Given the description of an element on the screen output the (x, y) to click on. 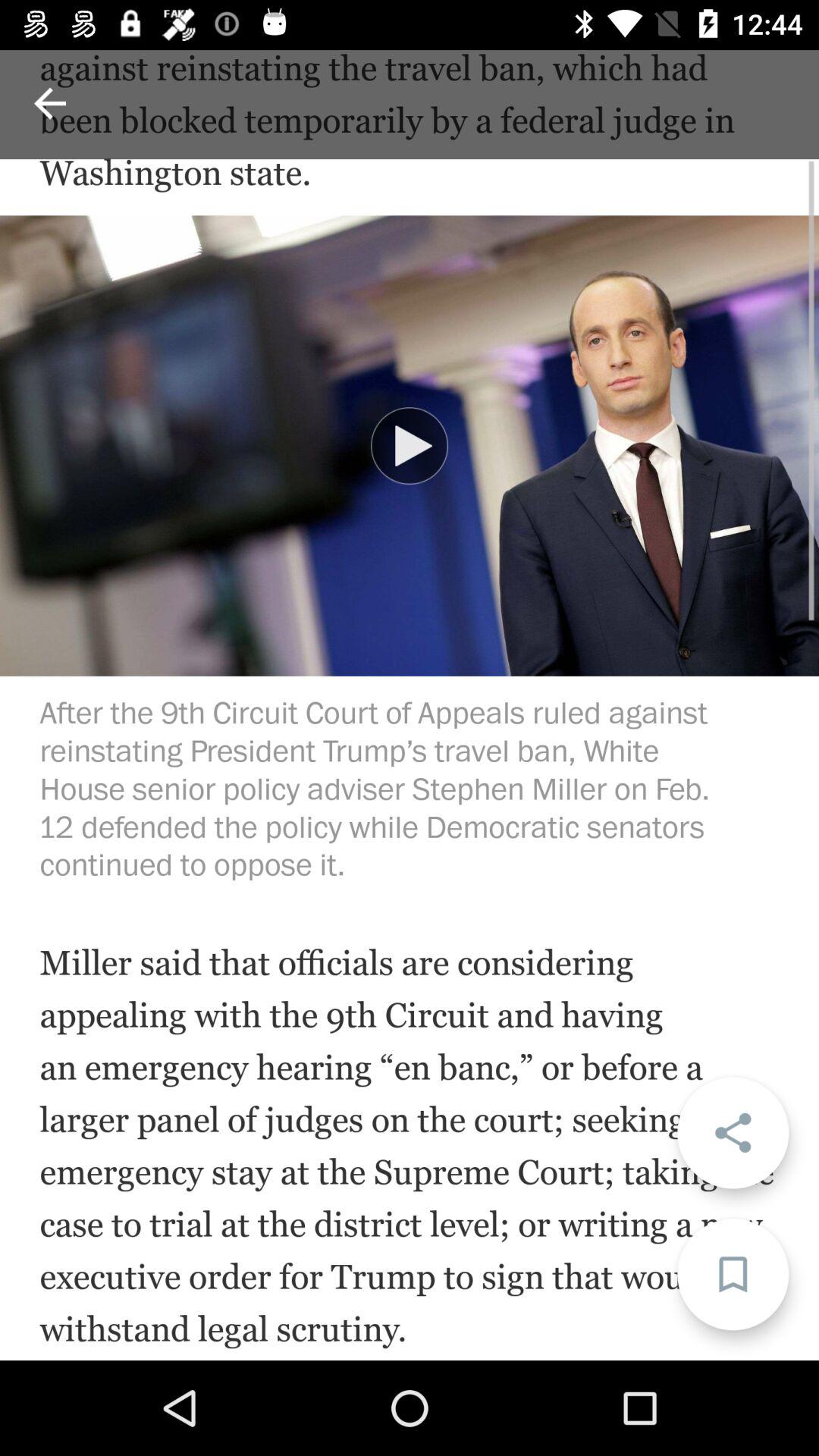
go back (49, 103)
